Given the description of an element on the screen output the (x, y) to click on. 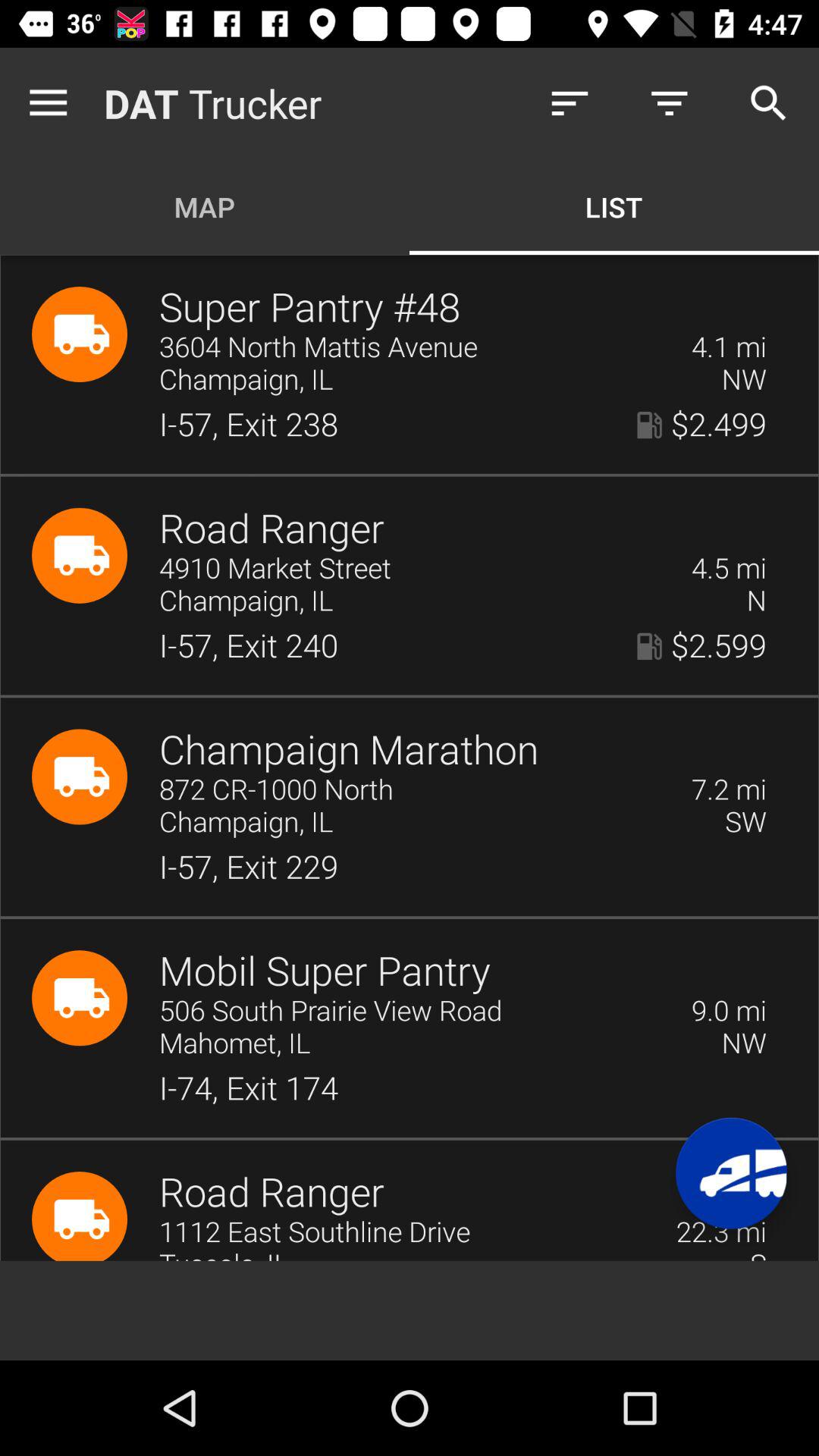
launch the 872 cr 1000 icon (415, 790)
